Given the description of an element on the screen output the (x, y) to click on. 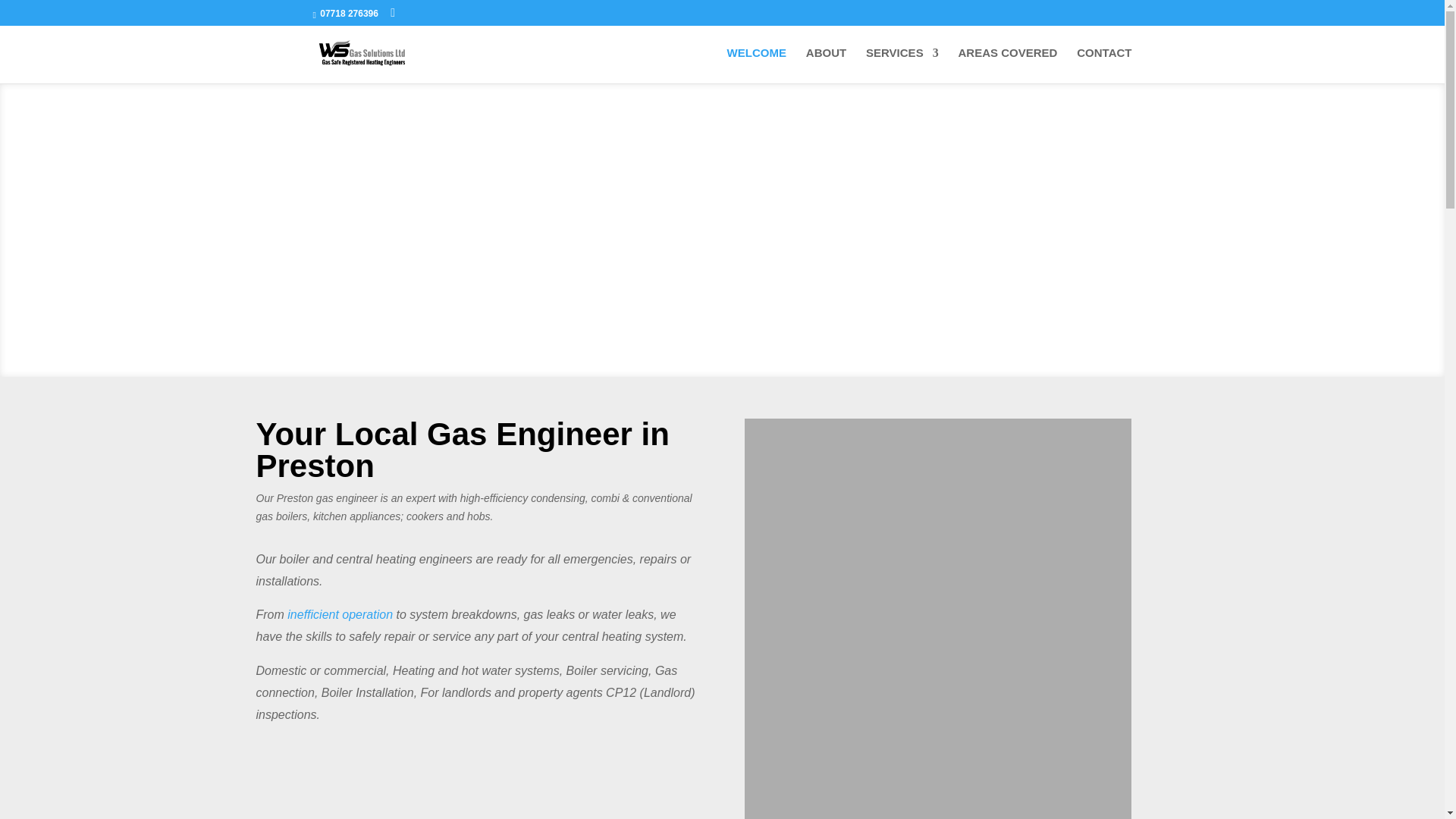
ABOUT (825, 65)
CONTACT (1104, 65)
AREAS COVERED (1008, 65)
WELCOME (756, 65)
SERVICES (902, 65)
inefficient operation (339, 614)
